Given the description of an element on the screen output the (x, y) to click on. 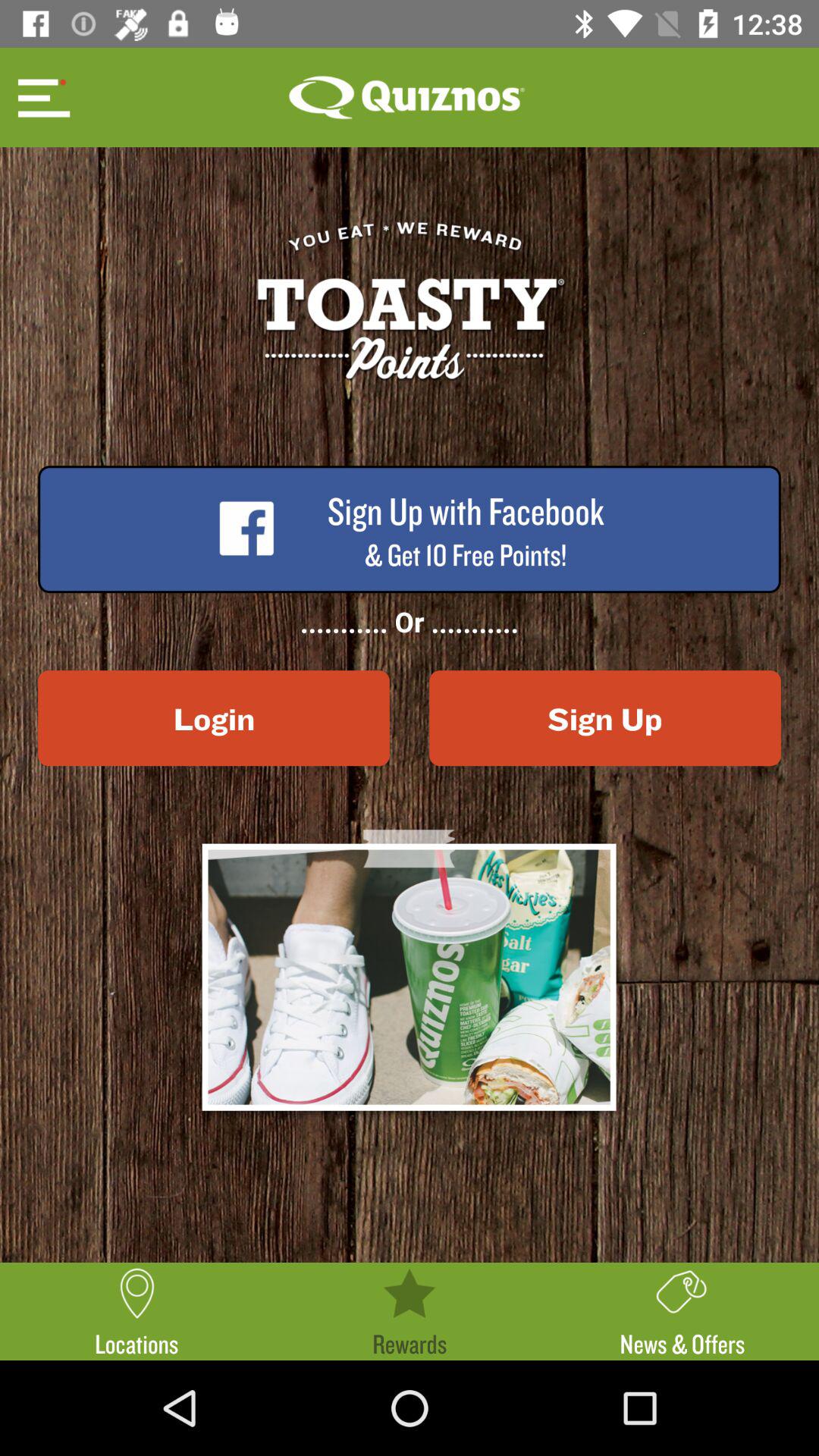
menu (41, 97)
